Given the description of an element on the screen output the (x, y) to click on. 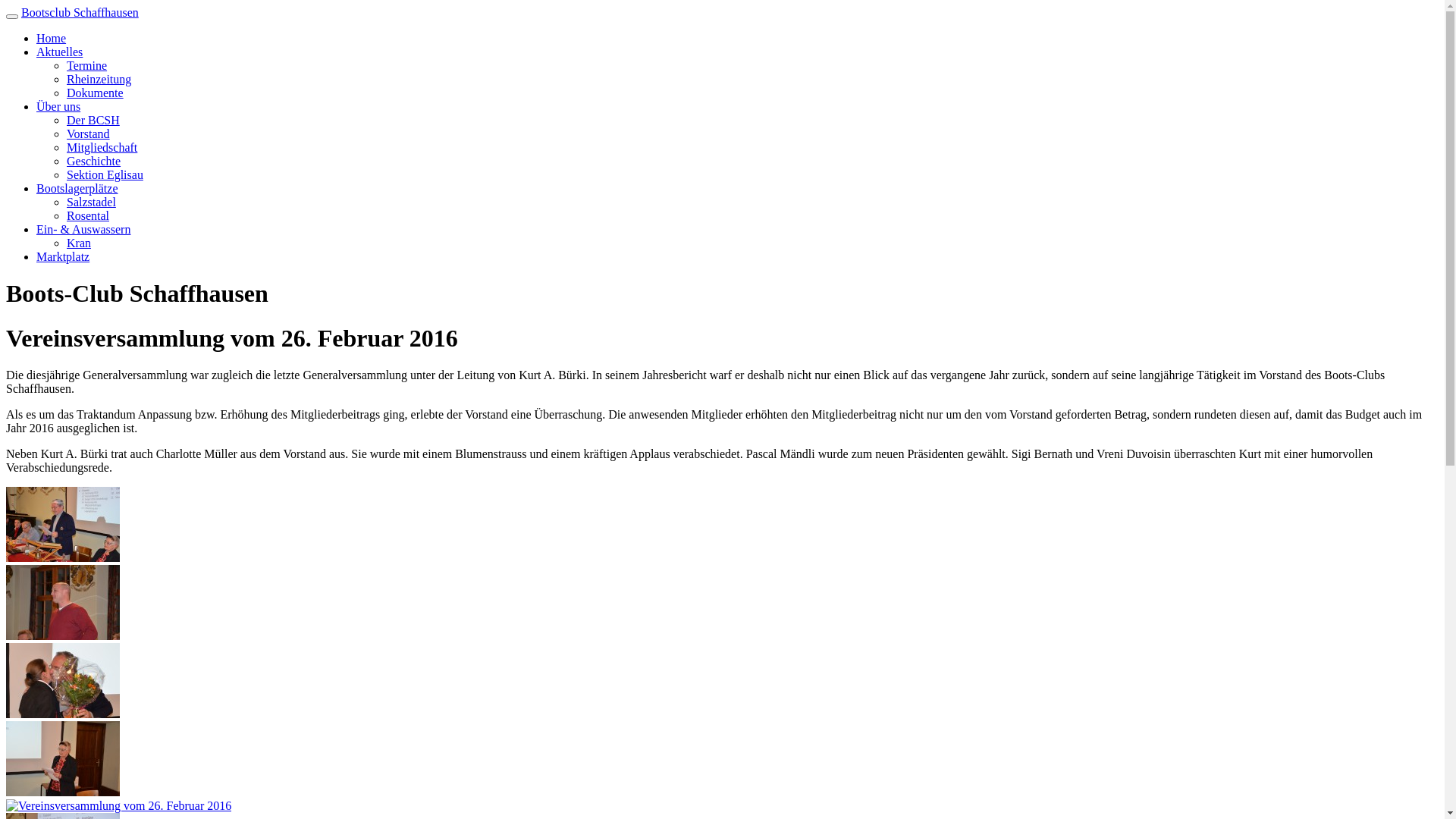
Home Element type: text (50, 37)
Rheinzeitung Element type: text (98, 78)
Sektion Eglisau Element type: text (104, 174)
Vereinsversammlung vom 26. Februar 2016 Element type: hover (62, 713)
Bootsclub Schaffhausen Element type: text (79, 12)
Aktuelles Element type: text (59, 51)
Kran Element type: text (78, 242)
Salzstadel Element type: text (91, 201)
Geschichte Element type: text (93, 160)
Vereinsversammlung vom 26. Februar 2016 Element type: hover (62, 557)
Dokumente Element type: text (94, 92)
Ein- & Auswassern Element type: text (83, 228)
Der BCSH Element type: text (92, 119)
Vereinsversammlung vom 26. Februar 2016 Element type: hover (62, 791)
Rosental Element type: text (87, 215)
Vereinsversammlung vom 26. Februar 2016 Element type: hover (62, 635)
Marktplatz Element type: text (62, 256)
Vorstand Element type: text (87, 133)
Termine Element type: text (86, 65)
Mitgliedschaft Element type: text (101, 147)
Vereinsversammlung vom 26. Februar 2016 Element type: hover (118, 805)
